Given the description of an element on the screen output the (x, y) to click on. 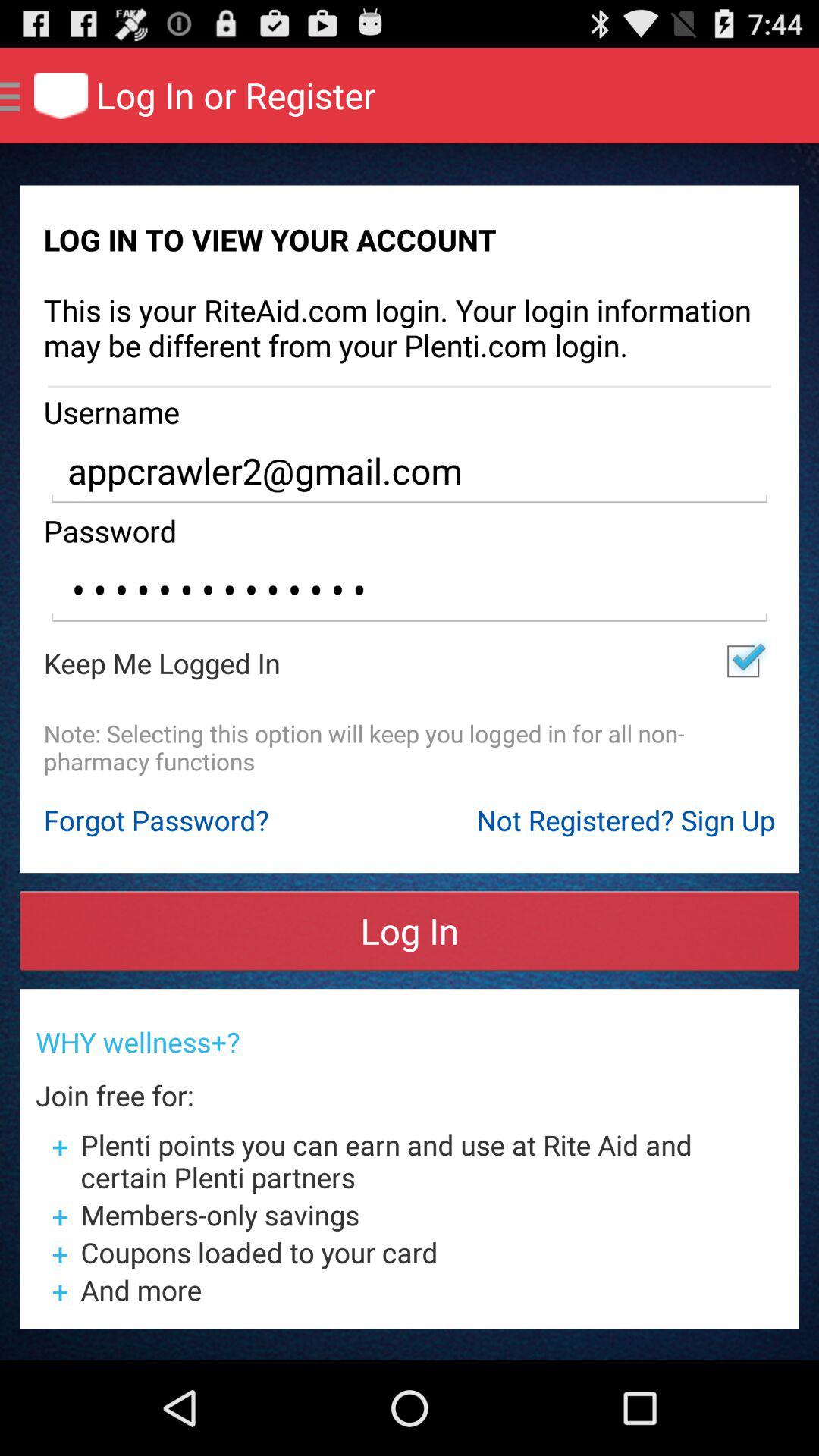
open not registered sign item (625, 819)
